Given the description of an element on the screen output the (x, y) to click on. 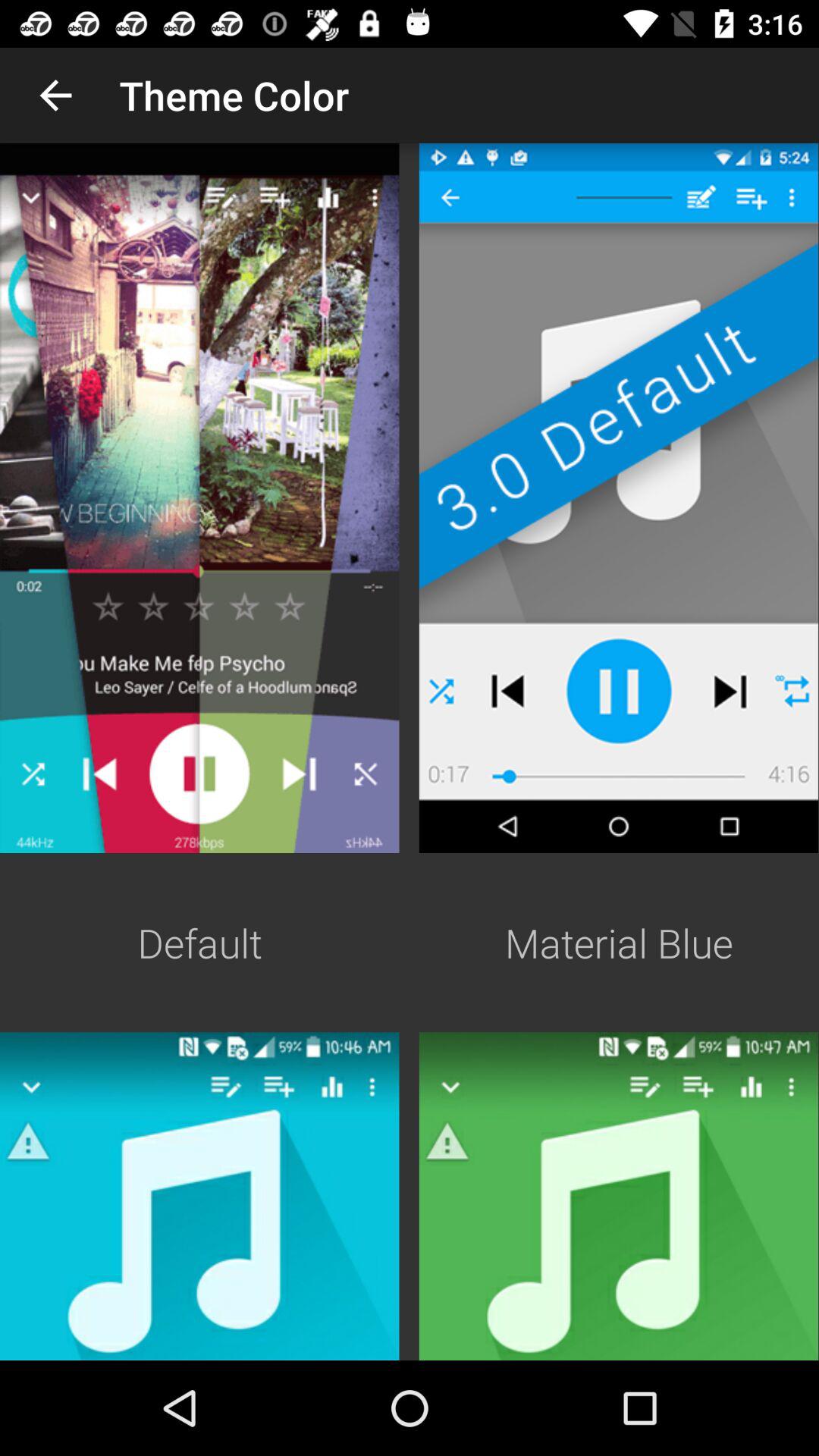
open the app to the left of theme color icon (55, 95)
